Given the description of an element on the screen output the (x, y) to click on. 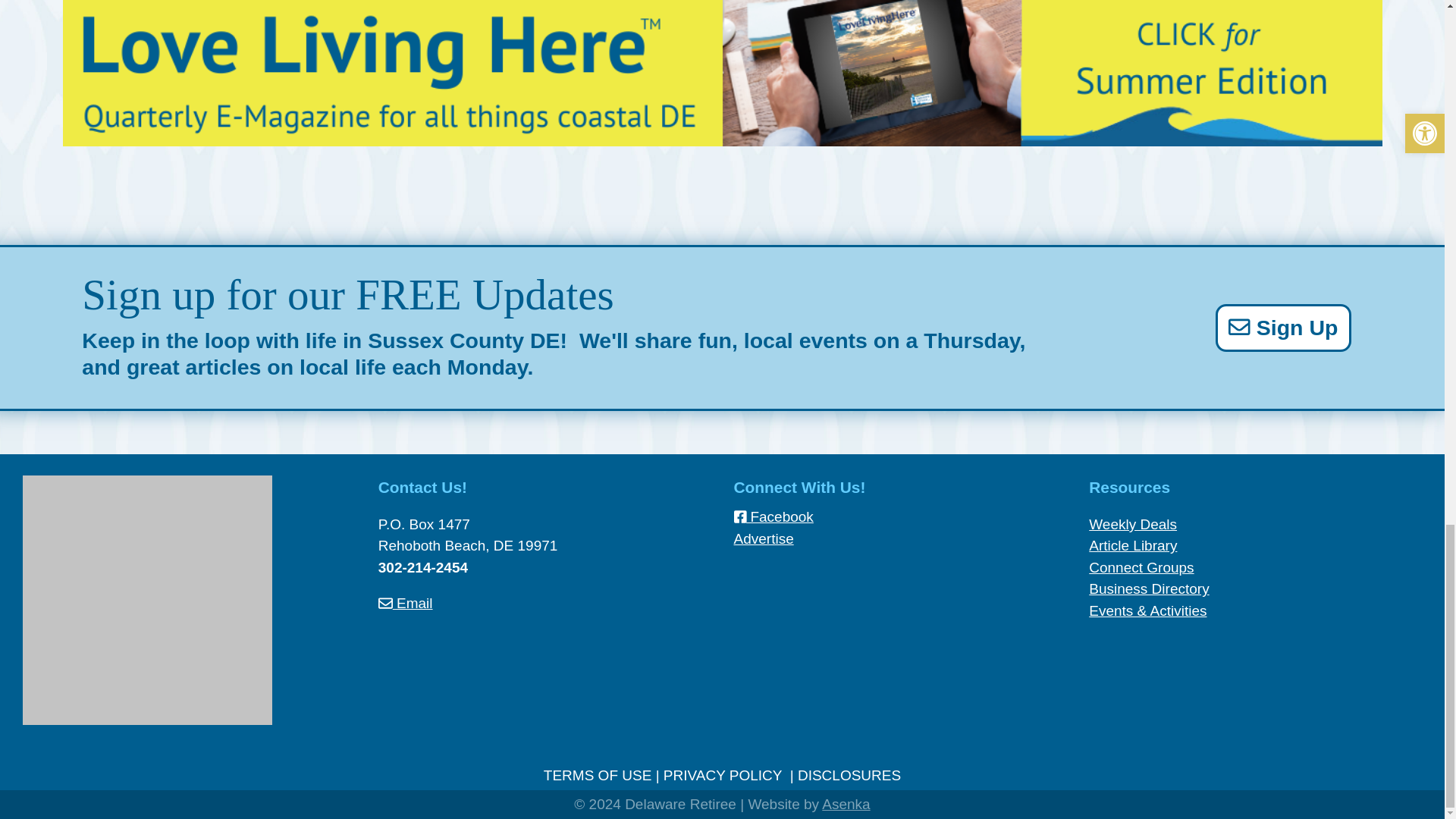
Sign Up (1283, 327)
